Given the description of an element on the screen output the (x, y) to click on. 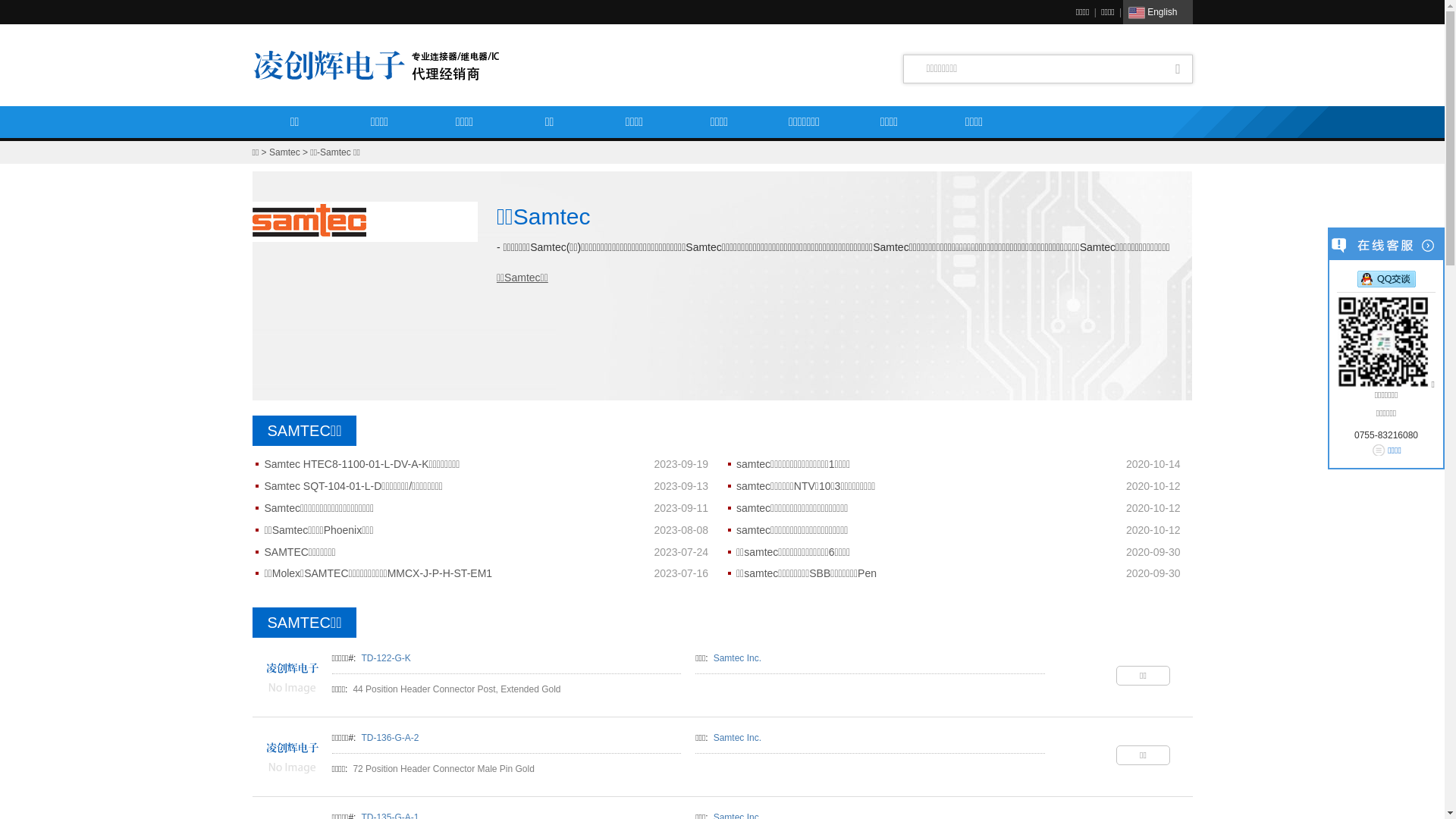
Samtec Inc. Element type: text (737, 657)
TD-122-G-K Element type: text (385, 657)
Samtec Inc. Element type: text (737, 737)
TD-136-G-A-2 Element type: hover (290, 756)
TD-136-G-A-2 Element type: text (389, 737)
English Element type: text (1157, 12)
TD-122-G-K Element type: hover (290, 677)
Samtec Element type: text (284, 152)
